Given the description of an element on the screen output the (x, y) to click on. 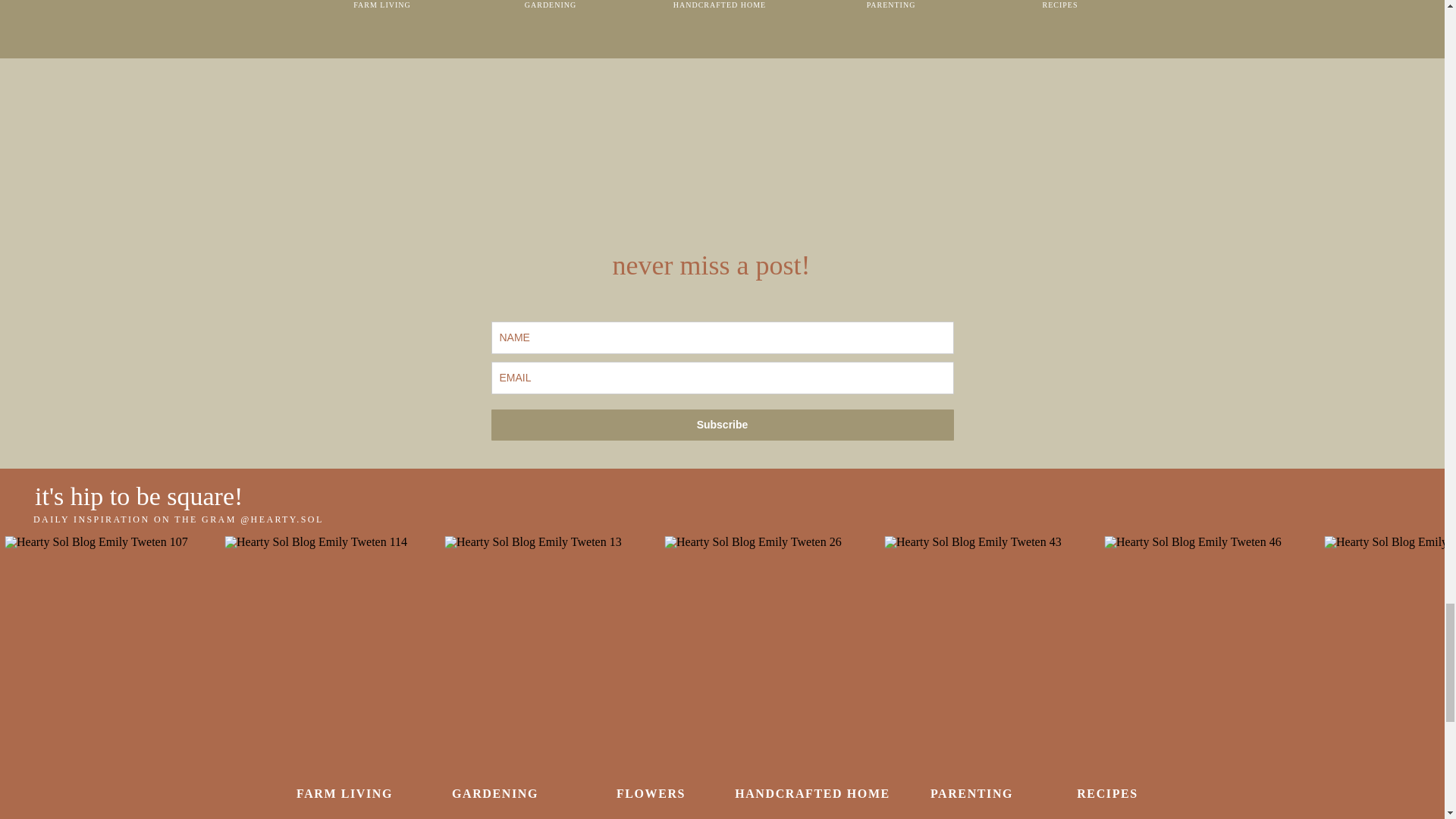
Hearty Sol Blog Emily Tweten 107 (111, 643)
Hearty Sol Blog Emily Tweten 114 (331, 643)
